Given the description of an element on the screen output the (x, y) to click on. 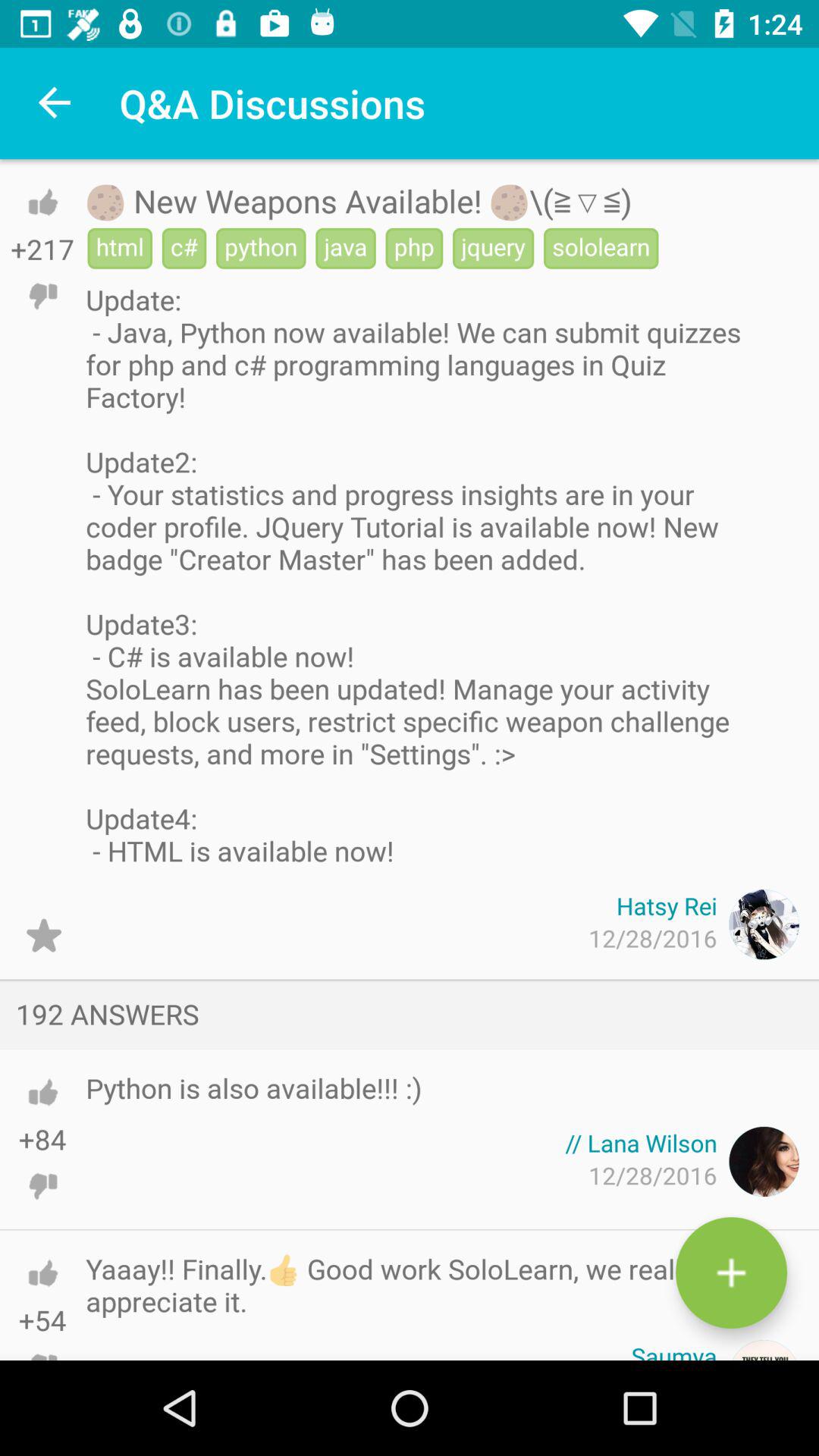
click the item below html (416, 574)
